Given the description of an element on the screen output the (x, y) to click on. 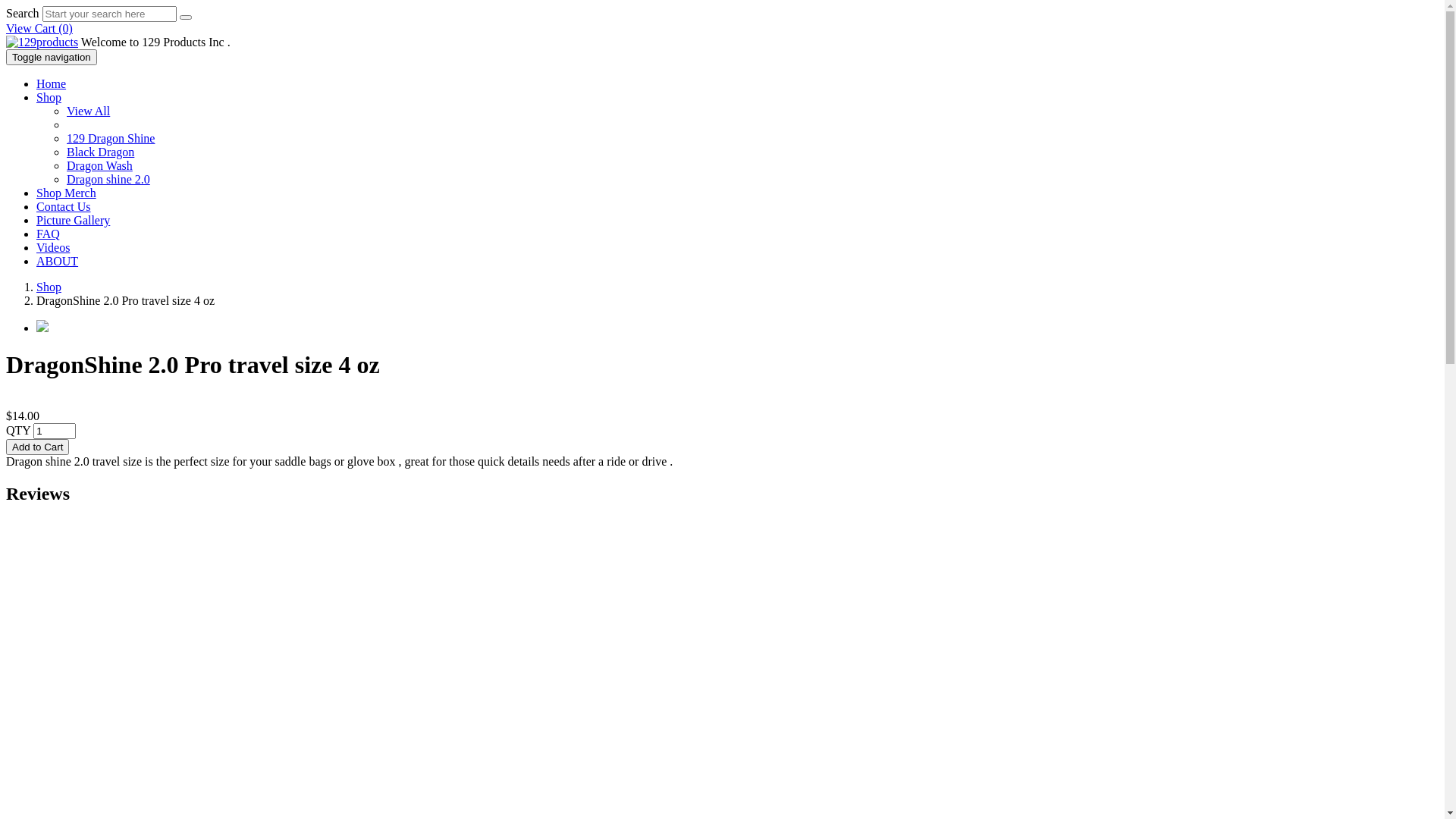
Dragon shine 2.0 Element type: text (108, 178)
Shop Merch Element type: text (66, 192)
129 Dragon Shine Element type: text (110, 137)
Add to Cart Element type: text (37, 447)
View All Element type: text (87, 110)
Picture Gallery Element type: text (72, 219)
Black Dragon Element type: text (100, 151)
Dragon Wash Element type: text (99, 165)
FAQ Element type: text (47, 233)
Videos Element type: text (52, 247)
Shop Element type: text (48, 97)
ABOUT Element type: text (57, 260)
Shop Element type: text (48, 286)
Home Element type: text (50, 83)
View Cart (0) Element type: text (39, 27)
Toggle navigation Element type: text (51, 57)
Contact Us Element type: text (63, 206)
